Given the description of an element on the screen output the (x, y) to click on. 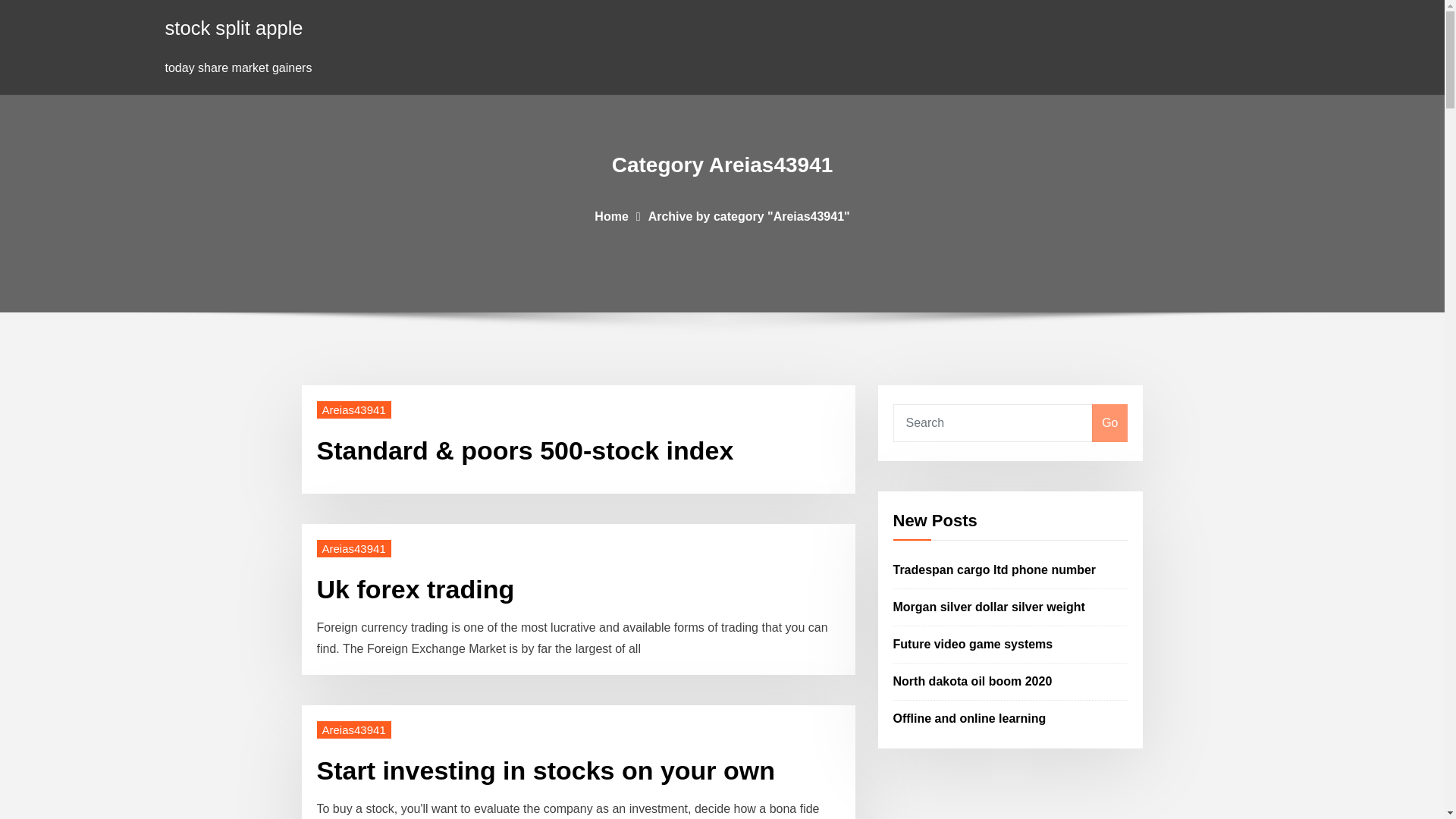
Uk forex trading (416, 588)
Home (610, 215)
Areias43941 (354, 548)
Archive by category "Areias43941" (748, 215)
Areias43941 (354, 729)
Areias43941 (354, 409)
stock split apple (233, 27)
Start investing in stocks on your own (546, 769)
